Given the description of an element on the screen output the (x, y) to click on. 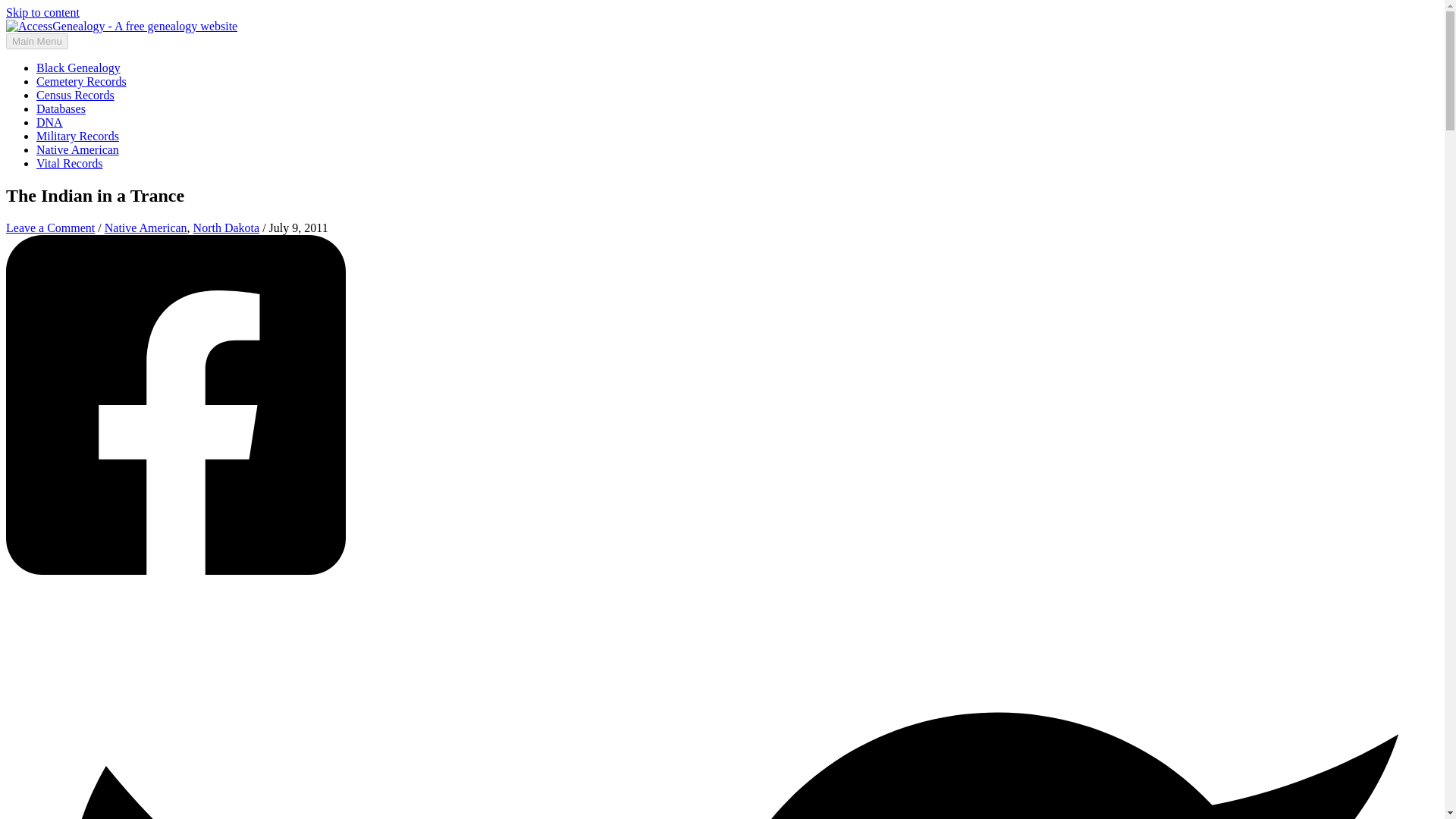
Main Menu (36, 41)
North Dakota (226, 227)
Native American (145, 227)
United States Vital Records (68, 163)
Census Records (75, 94)
DNA (49, 122)
Databases (60, 108)
Vital Records (68, 163)
Genealogy Databases (60, 108)
Skip to content (42, 11)
Black Genealogy (78, 67)
DNA (49, 122)
United States Cemetery Records (81, 81)
Skip to content (42, 11)
United States Military Records (77, 135)
